Given the description of an element on the screen output the (x, y) to click on. 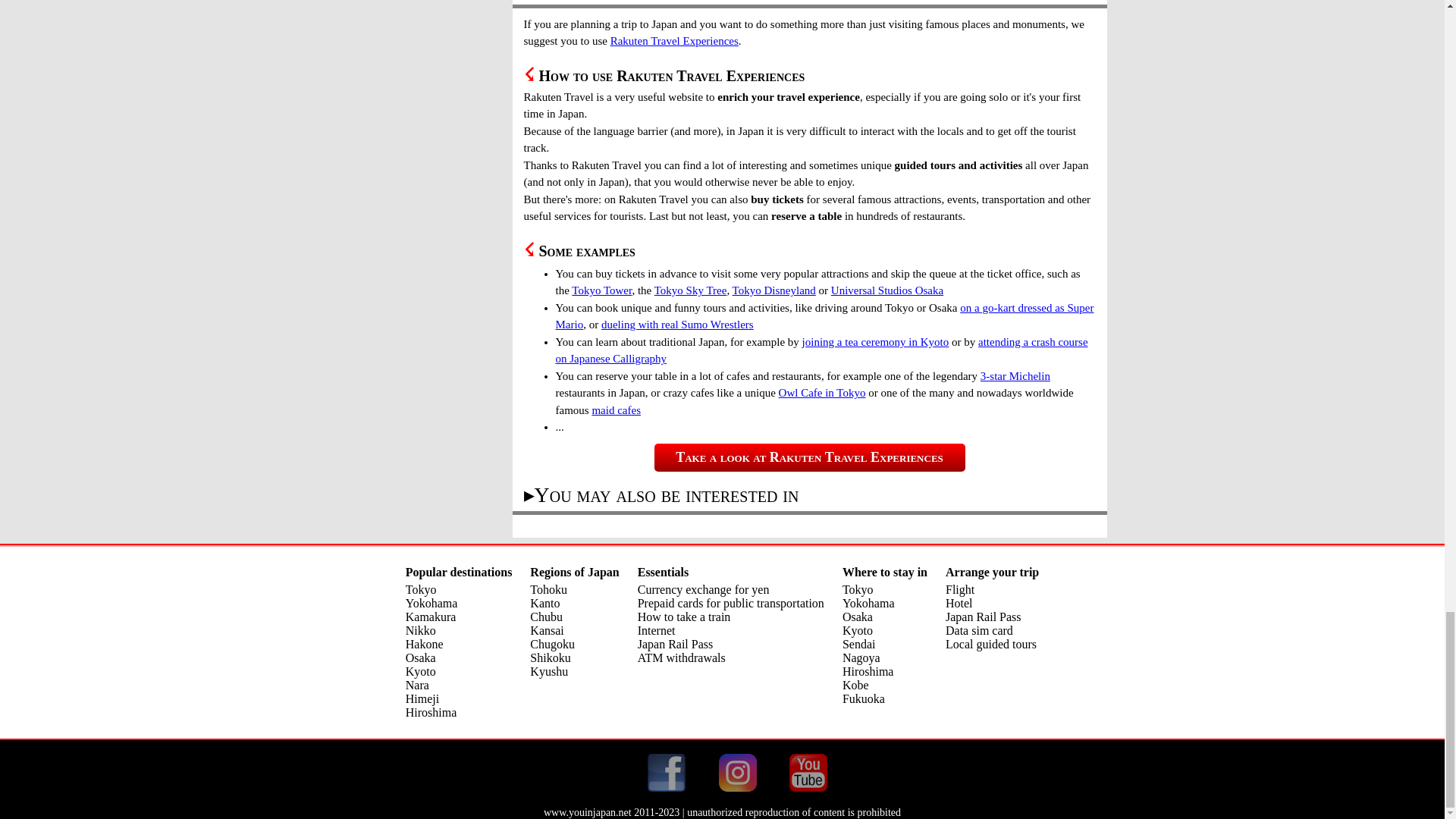
Youtube channel (808, 772)
Facebook (666, 772)
